Given the description of an element on the screen output the (x, y) to click on. 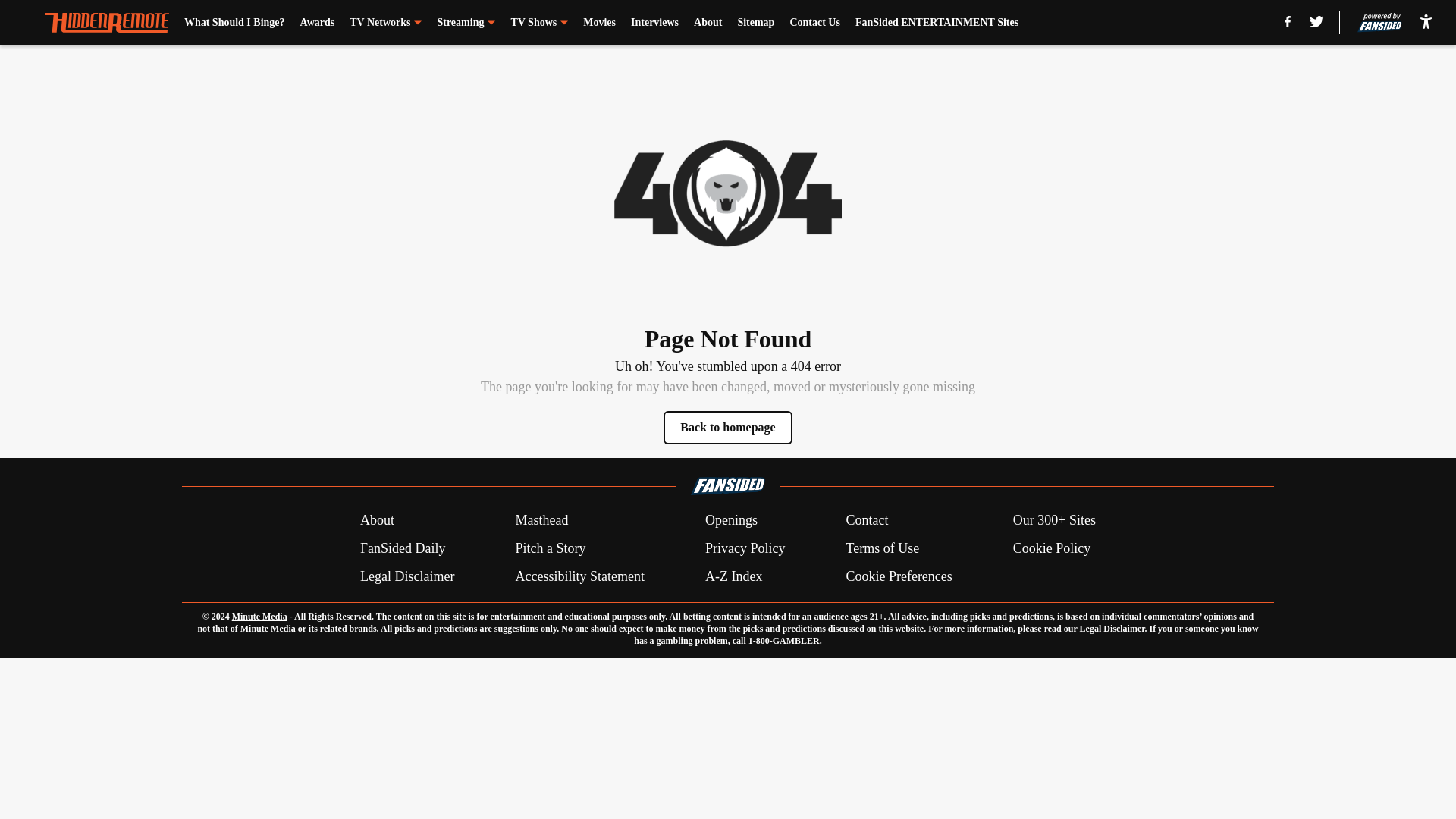
Contact Us (814, 22)
Error image (727, 193)
About (708, 22)
Movies (599, 22)
FanSided ENTERTAINMENT Sites (936, 22)
Sitemap (755, 22)
What Should I Binge? (234, 22)
Back to homepage (727, 427)
About (376, 520)
Interviews (654, 22)
Awards (316, 22)
